Given the description of an element on the screen output the (x, y) to click on. 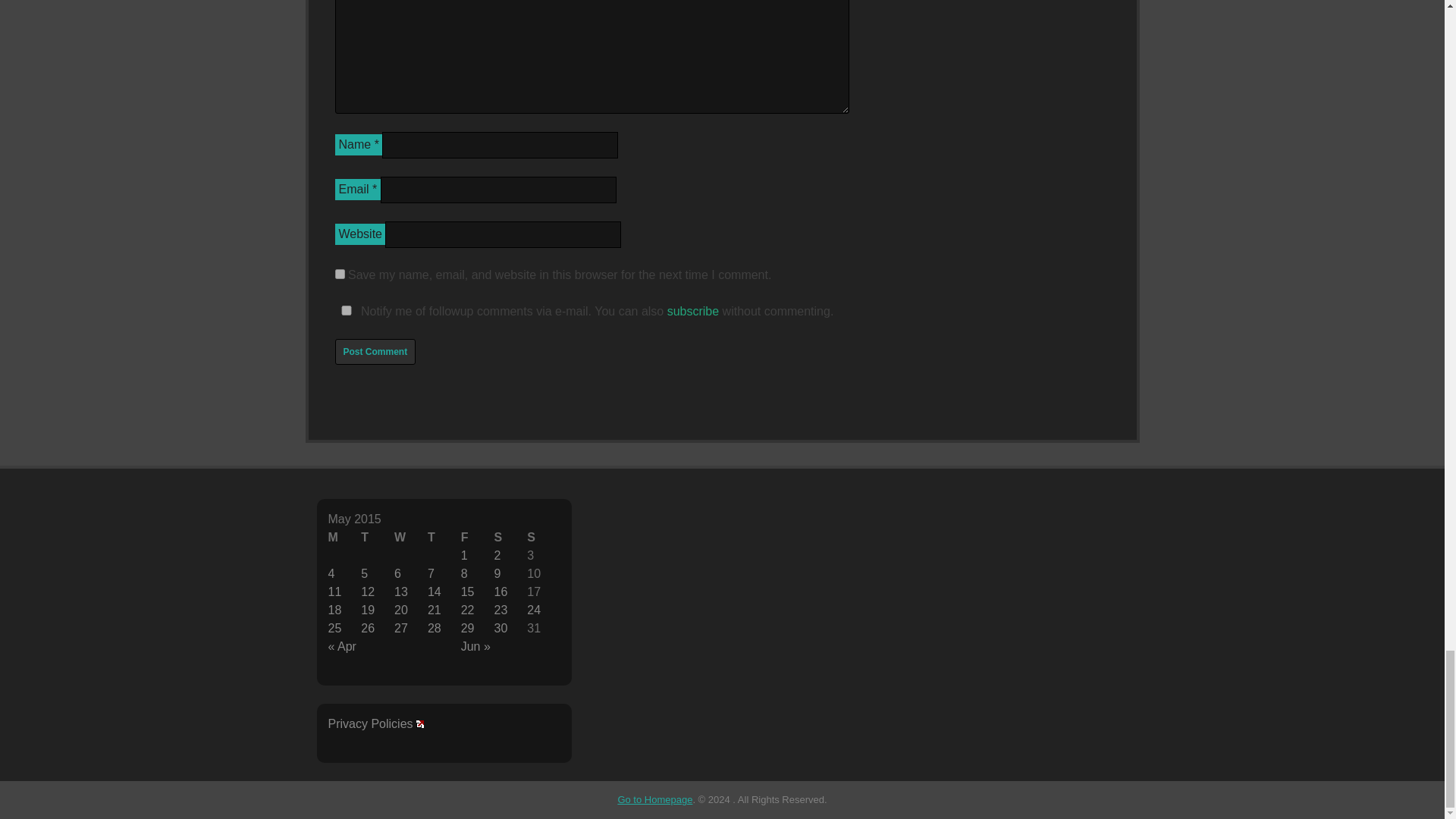
Tuesday (377, 537)
Wednesday (411, 537)
yes (346, 310)
Saturday (510, 537)
Post Comment (375, 351)
yes (339, 274)
Monday (344, 537)
Friday (478, 537)
Thursday (444, 537)
Sunday (543, 537)
